Given the description of an element on the screen output the (x, y) to click on. 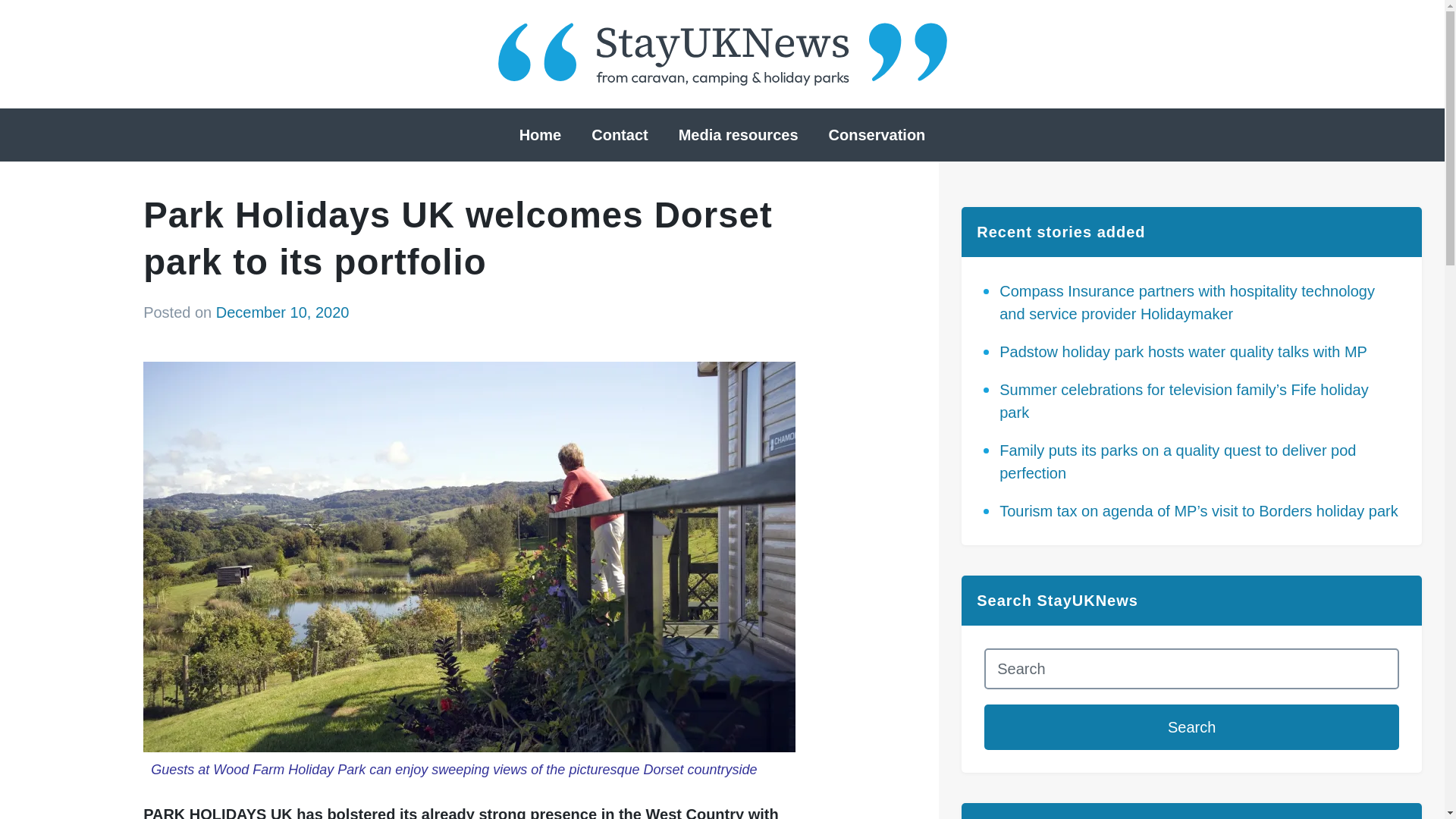
Contact (619, 135)
Home (539, 135)
Search (1191, 727)
Padstow holiday park hosts water quality talks with MP (1182, 351)
Media resources (738, 135)
Search (1191, 727)
StayUKNews.co.uk (722, 53)
December 10, 2020 (282, 312)
